Given the description of an element on the screen output the (x, y) to click on. 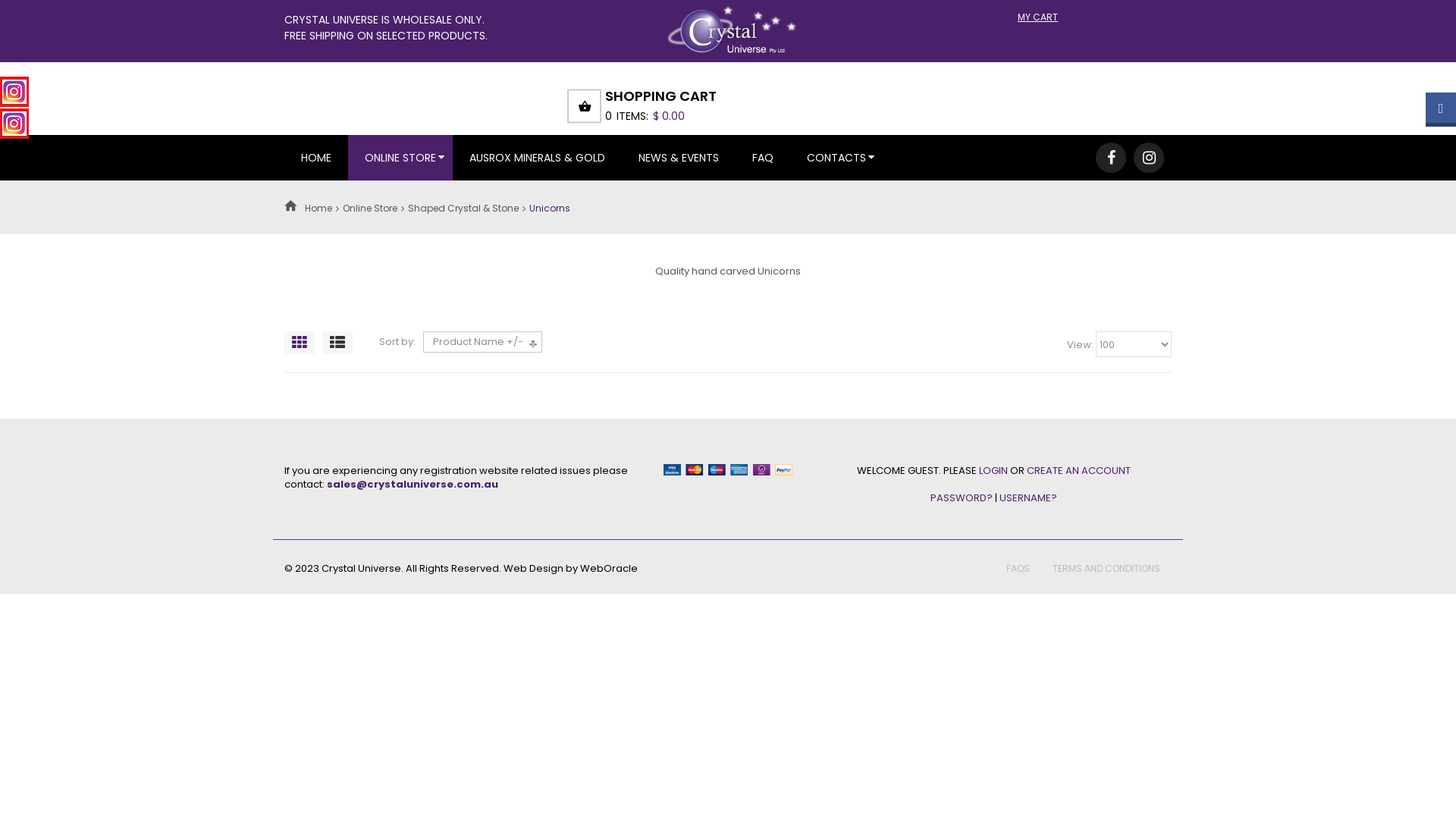
List Element type: hover (337, 342)
TERMS AND CONDITIONS Element type: text (1106, 568)
Web Design by WebOracle Element type: text (570, 568)
Product Name +/- Element type: text (478, 341)
NEWS & EVENTS Element type: text (678, 157)
Online Store Element type: text (369, 207)
Home Element type: text (318, 207)
Grid Element type: hover (299, 342)
Shaped Crystal & Stone Element type: text (462, 207)
FAQS Element type: text (1017, 568)
MY CART Element type: text (1030, 17)
HOME Element type: text (316, 157)
CONTACTS Element type: text (836, 157)
USERNAME? Element type: text (1028, 497)
AUSROX MINERALS & GOLD Element type: text (536, 157)
LOGIN Element type: text (992, 470)
CREATE AN ACCOUNT Element type: text (1078, 470)
PASSWORD? Element type: text (960, 497)
FAQ Element type: text (762, 157)
ONLINE STORE Element type: text (400, 157)
sales@crystaluniverse.com.au Element type: text (412, 483)
